Given the description of an element on the screen output the (x, y) to click on. 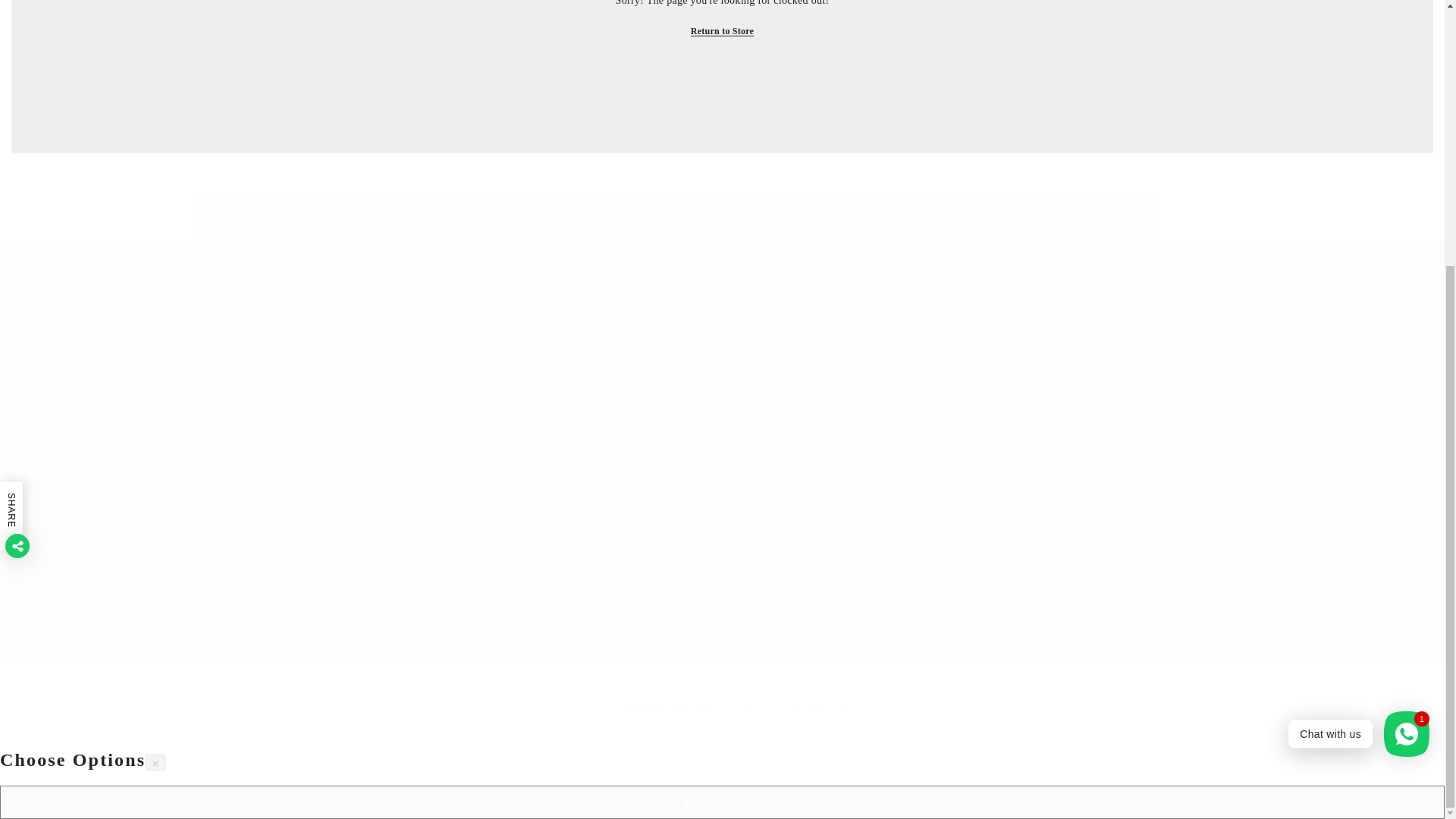
Free Returns In-Store (1024, 229)
Secure Payment (721, 229)
